Given the description of an element on the screen output the (x, y) to click on. 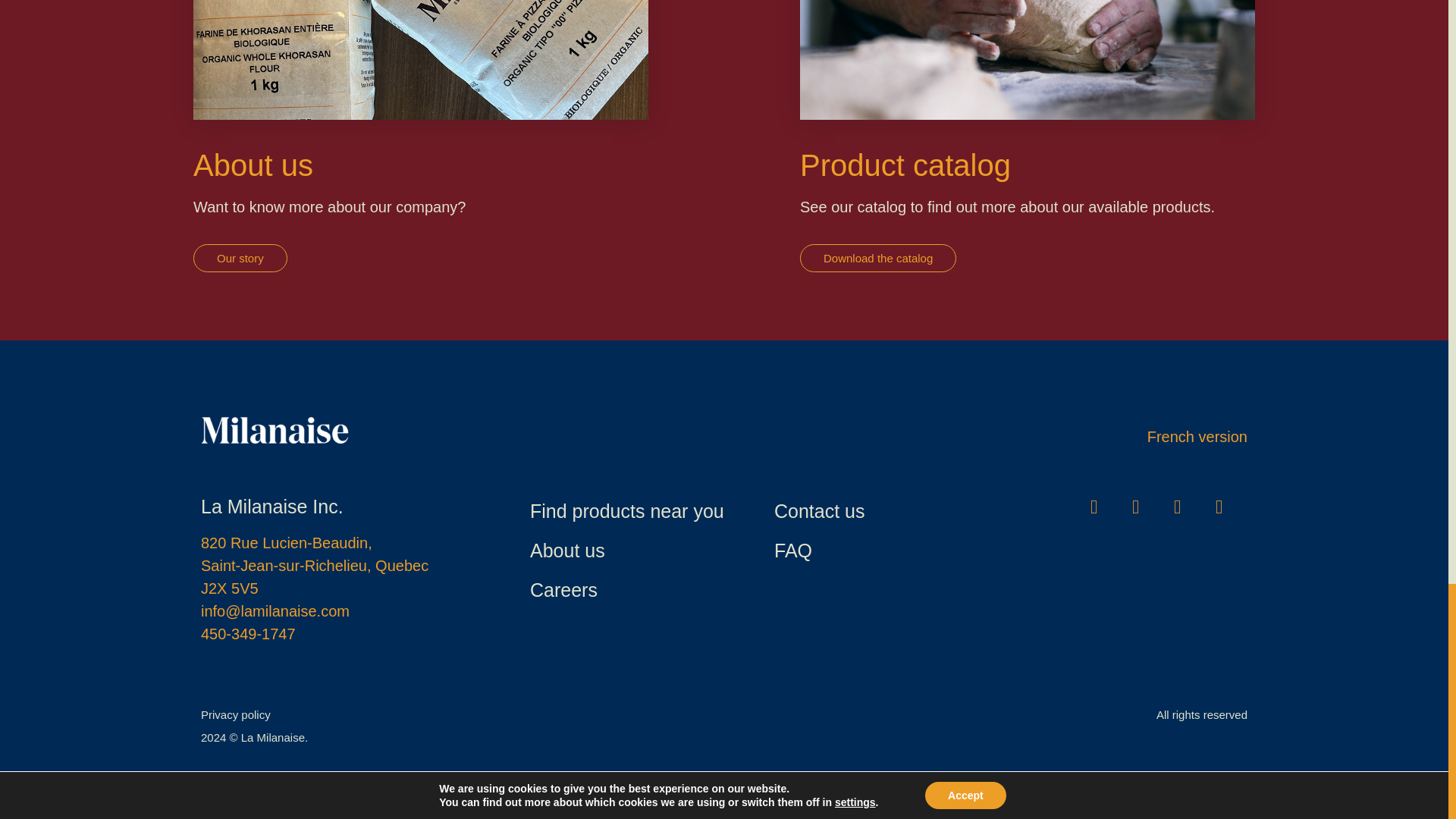
450-349-1747 (247, 633)
About us (567, 550)
Our story (239, 257)
Contact us (819, 510)
French version (1197, 436)
Careers (562, 589)
FAQ (793, 550)
Download the catalog (877, 257)
Privacy policy (235, 714)
Find products near you (626, 510)
